Given the description of an element on the screen output the (x, y) to click on. 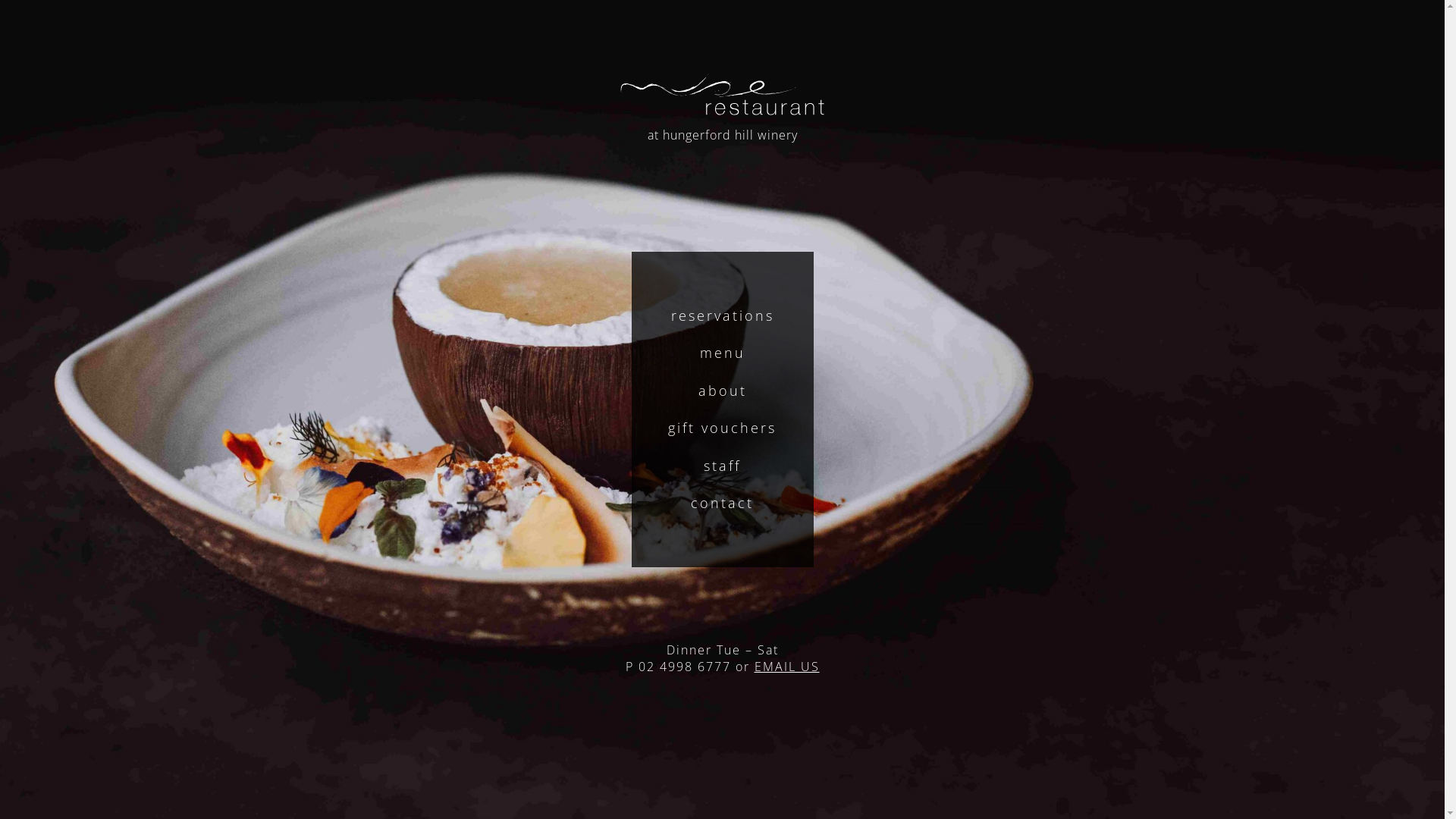
staff Element type: text (721, 464)
menu Element type: text (721, 352)
EMAIL US Element type: text (786, 666)
contact Element type: text (721, 502)
reservations Element type: text (721, 315)
about Element type: text (721, 390)
gift vouchers Element type: text (721, 427)
